Given the description of an element on the screen output the (x, y) to click on. 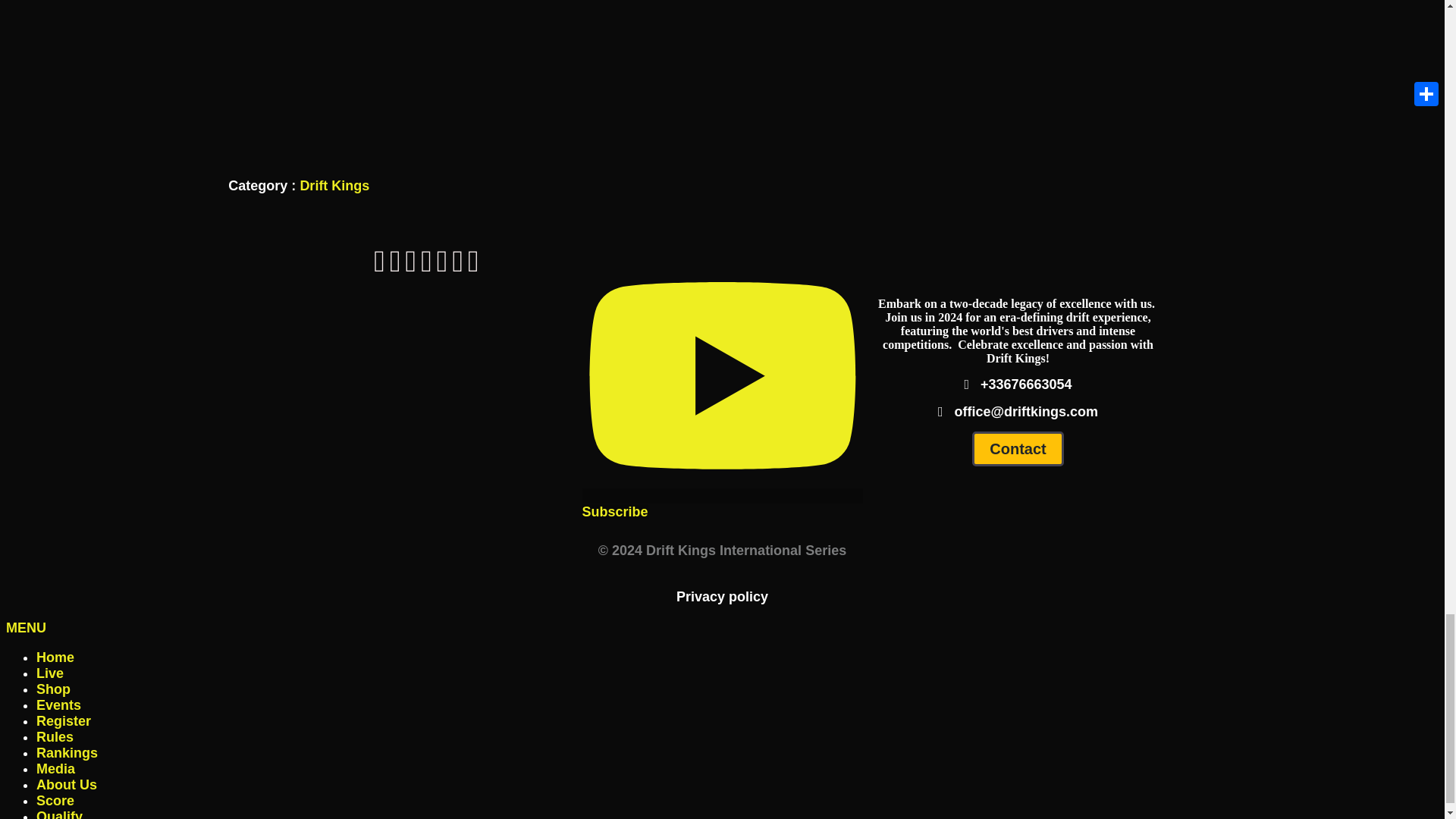
Privacy policy (722, 596)
Home (55, 657)
MENU (25, 627)
Subscribe (722, 503)
Drift Kings (334, 185)
photo (426, 353)
Contact (1017, 448)
